Given the description of an element on the screen output the (x, y) to click on. 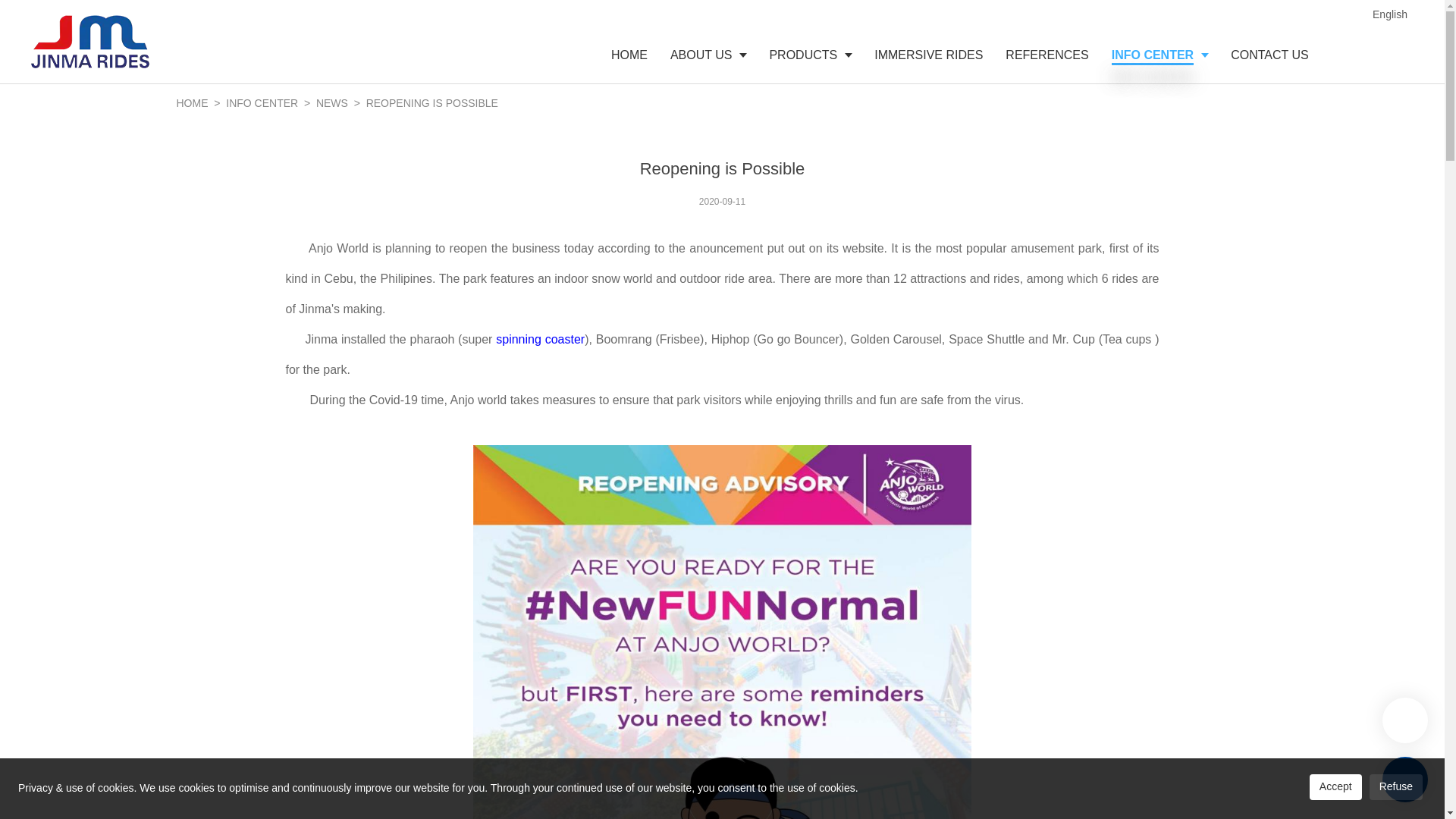
PRODUCTS (810, 55)
IMMERSIVE RIDES (928, 55)
HOME (629, 55)
INFO CENTER (1160, 55)
ABOUT US (708, 55)
HOME (192, 102)
INFO CENTER (263, 102)
CONTACT US (1270, 55)
spinning coaster (540, 338)
REFERENCES (1046, 55)
NEWS (332, 102)
